Given the description of an element on the screen output the (x, y) to click on. 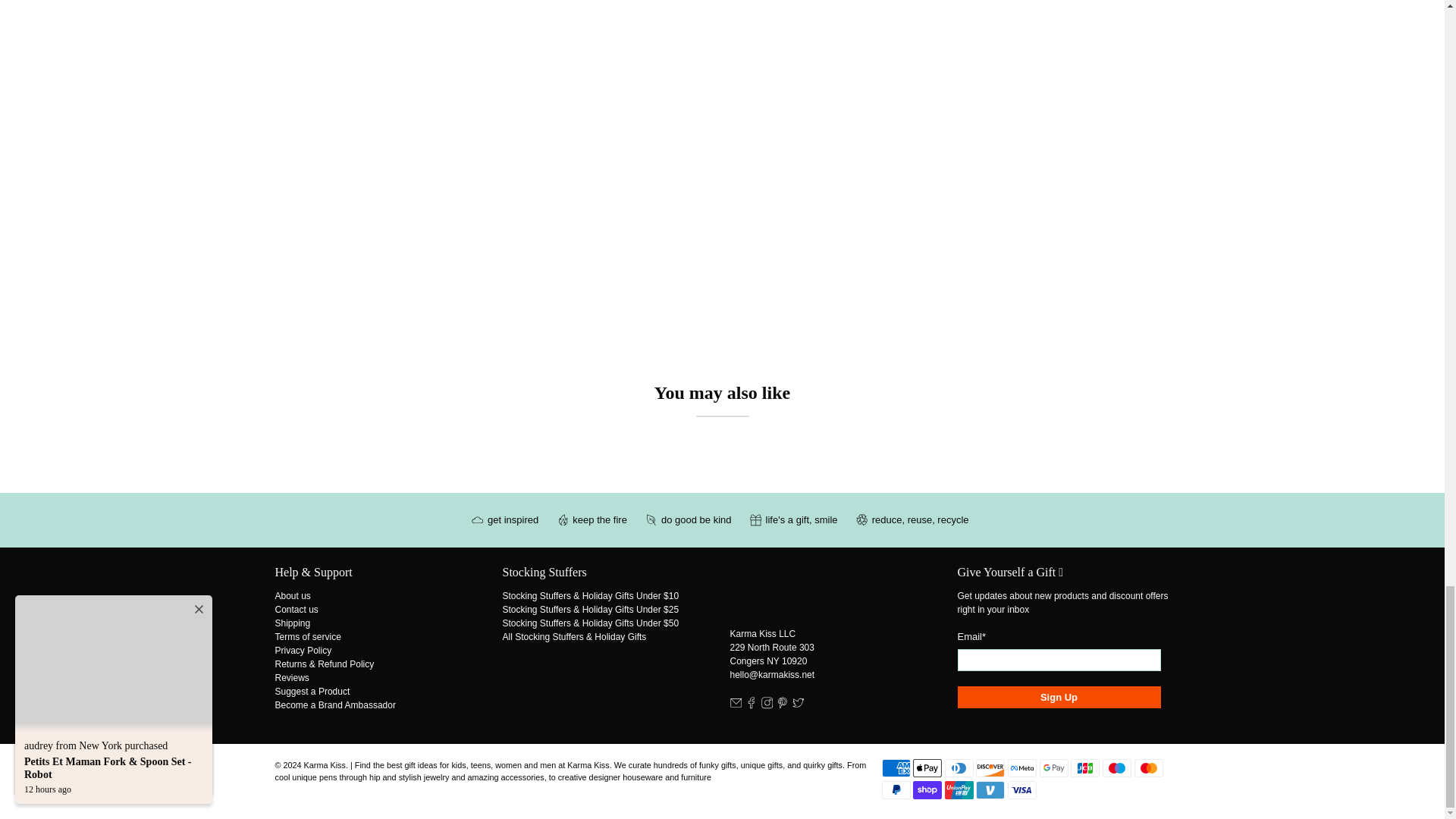
Karma Kiss on Facebook (751, 706)
Karma Kiss (793, 595)
Karma Kiss on Twitter (798, 706)
Email Karma Kiss (735, 706)
Karma Kiss on Pinterest (782, 706)
Karma Kiss on Instagram (767, 706)
